Given the description of an element on the screen output the (x, y) to click on. 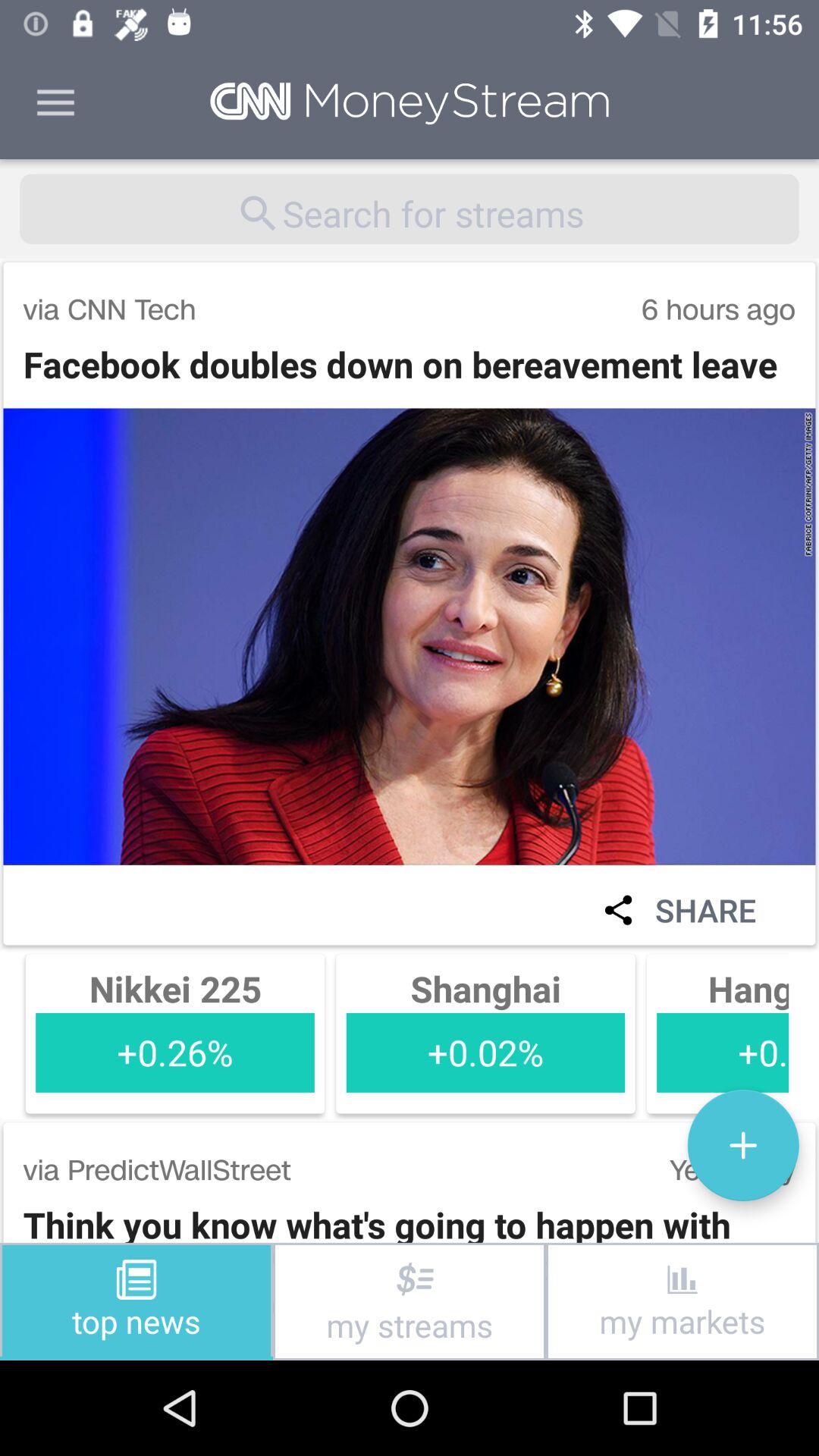
see more (743, 1145)
